Given the description of an element on the screen output the (x, y) to click on. 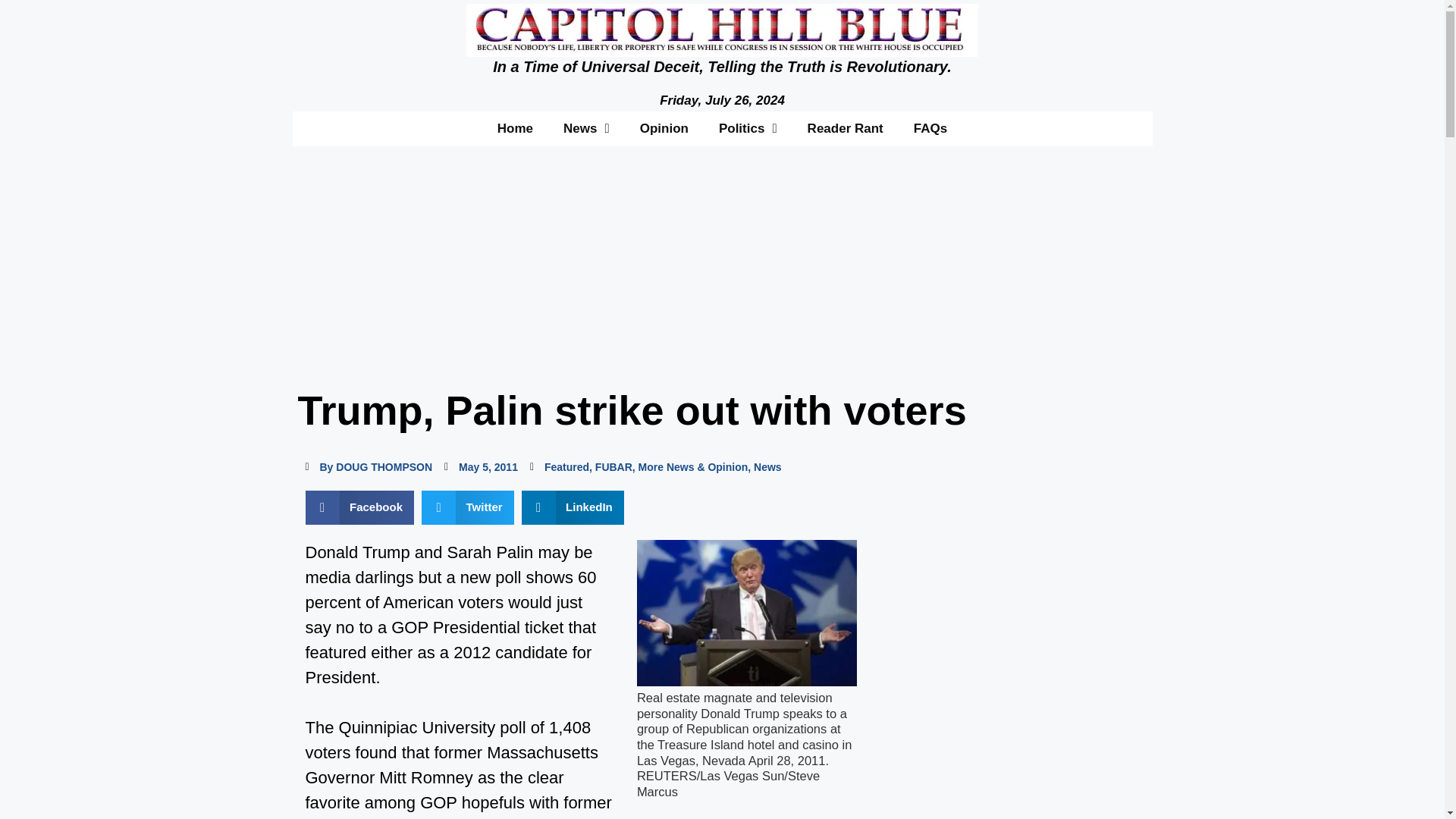
Home (514, 127)
Politics (747, 127)
Opinion (663, 127)
News (767, 467)
FAQs (930, 127)
By DOUG THOMPSON (368, 467)
Featured (566, 467)
News (586, 127)
Reader Rant (845, 127)
FUBAR (613, 467)
May 5, 2011 (481, 467)
